Given the description of an element on the screen output the (x, y) to click on. 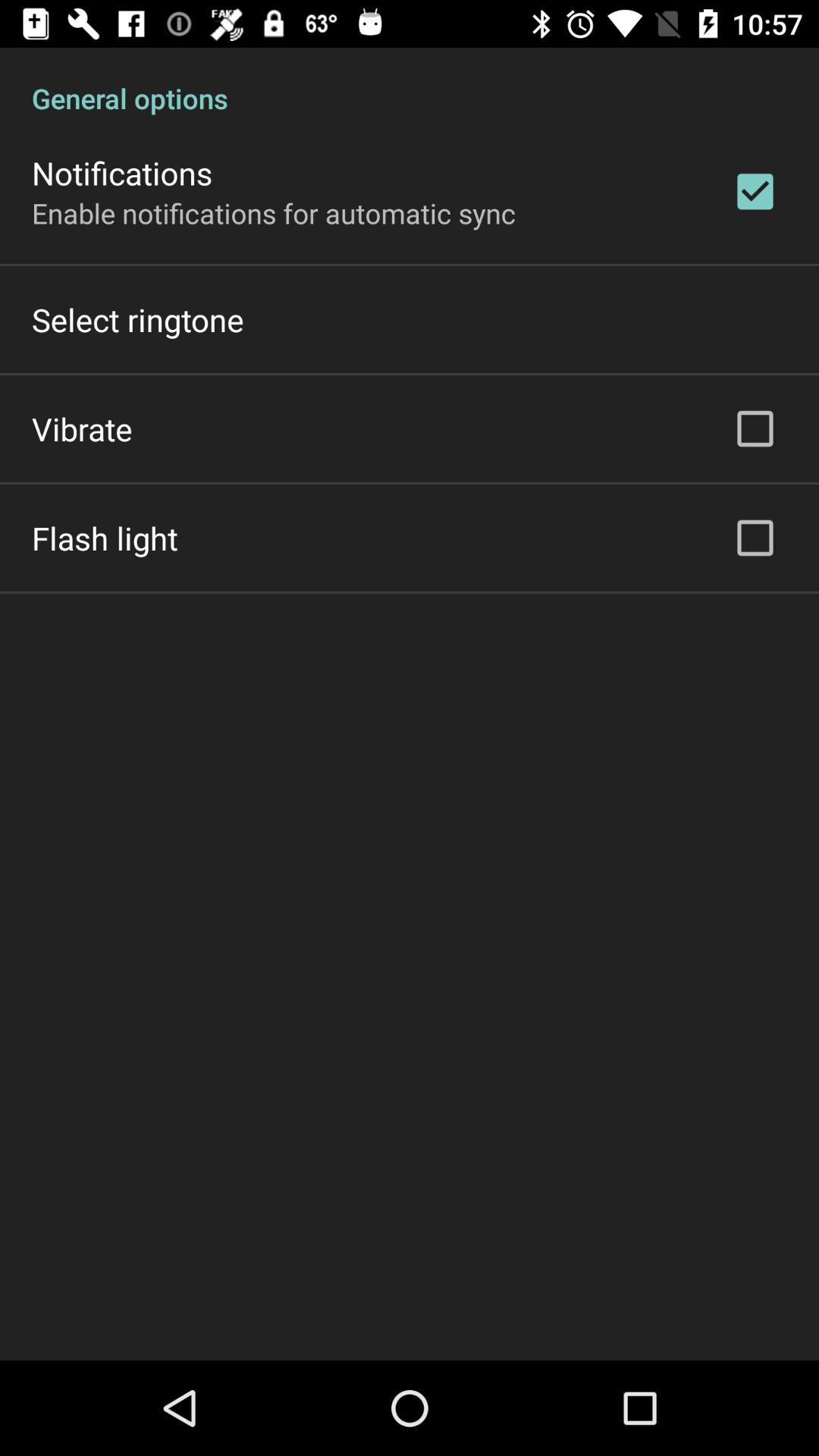
press the item below the select ringtone item (81, 428)
